Given the description of an element on the screen output the (x, y) to click on. 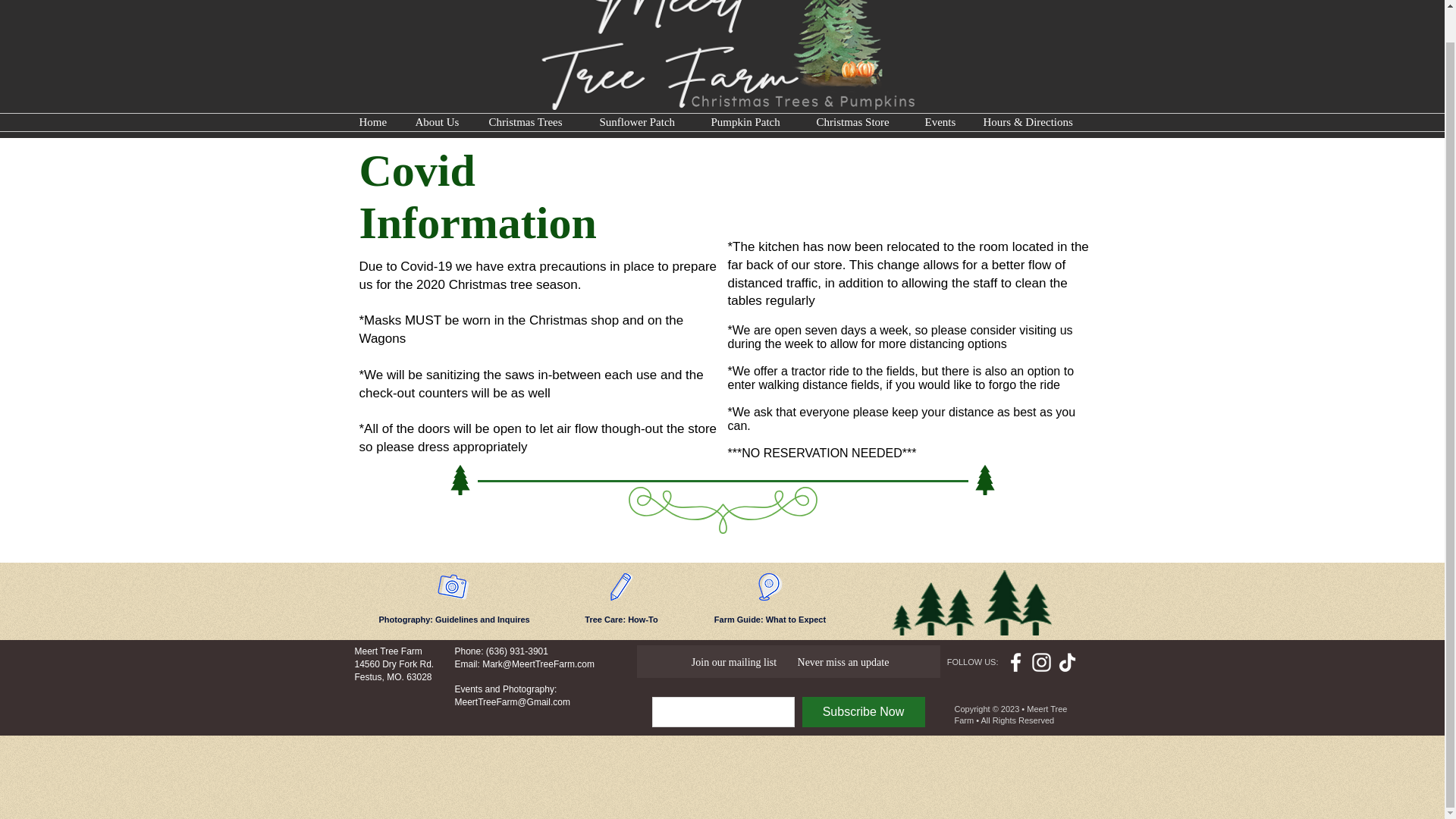
Home (375, 122)
Farm Guide: What to Expect (769, 619)
Tree Care: How-To (620, 619)
Christmas Store (859, 122)
Photography: Guidelines and Inquires (453, 619)
Pumpkin Patch (751, 122)
Christmas Trees (532, 122)
Sunflower Patch (644, 122)
Events (941, 122)
About Us (440, 122)
